Given the description of an element on the screen output the (x, y) to click on. 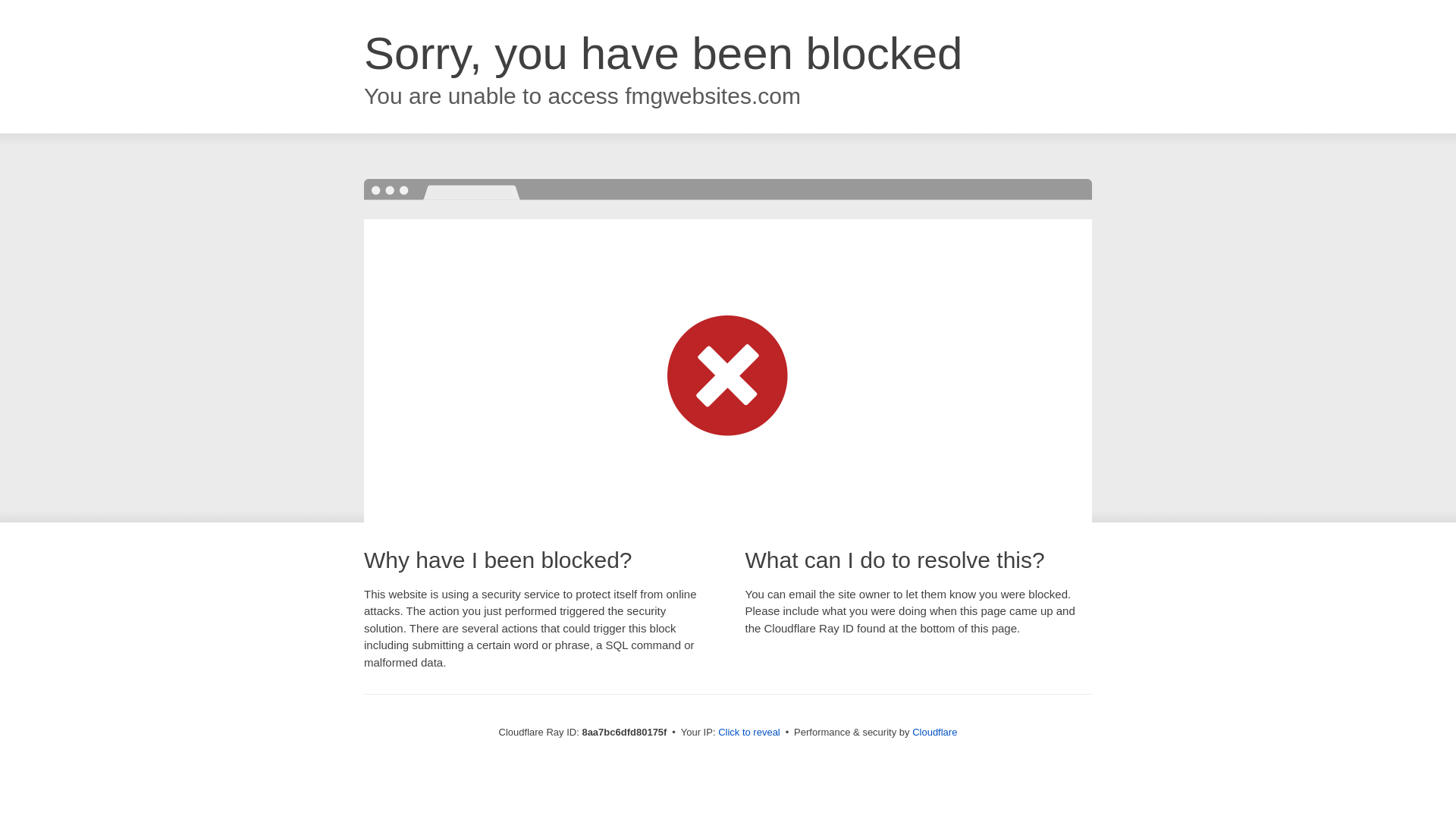
Click to reveal (748, 732)
Cloudflare (934, 731)
